Given the description of an element on the screen output the (x, y) to click on. 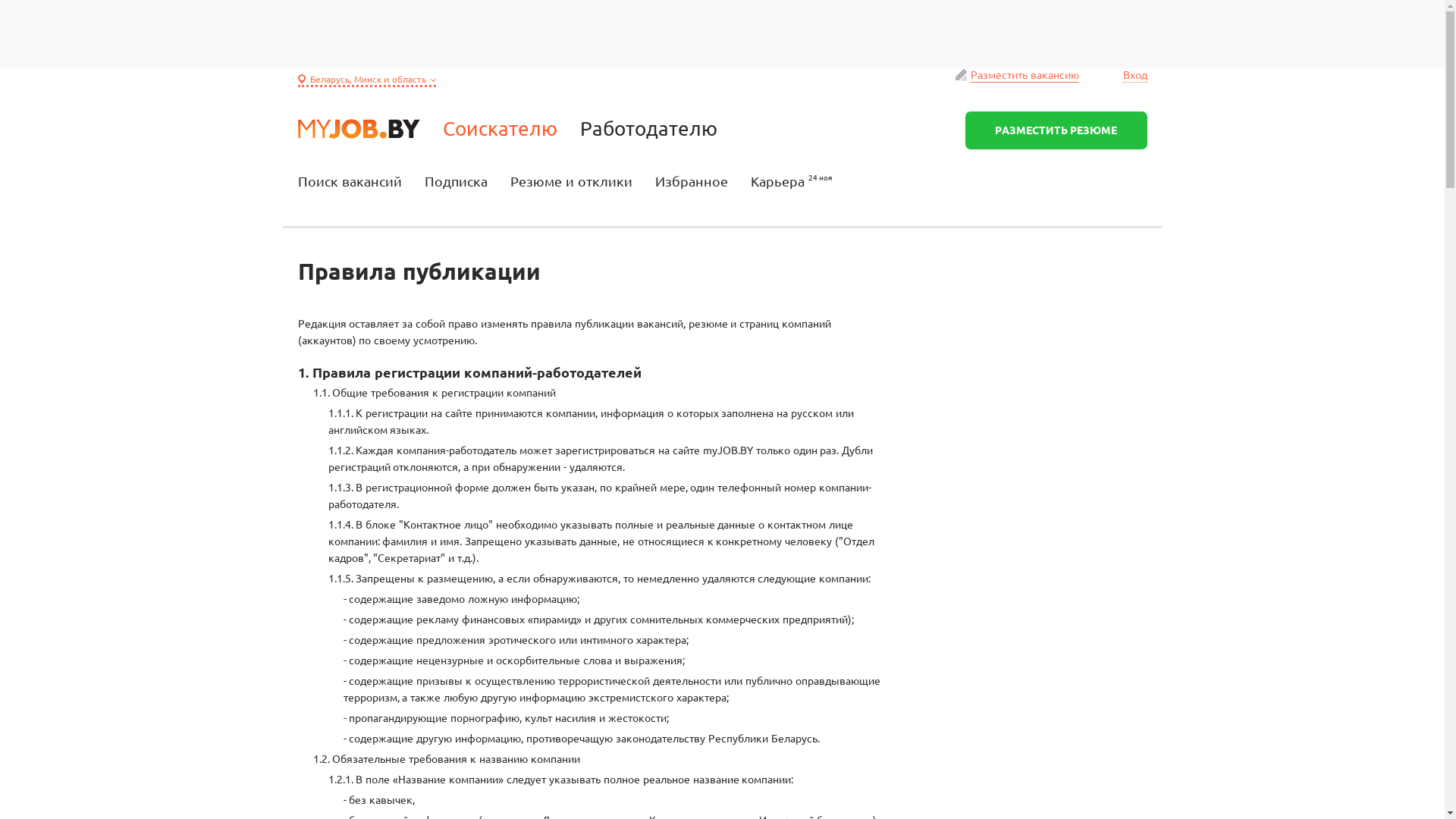
myJOB.BY Element type: text (358, 128)
